Given the description of an element on the screen output the (x, y) to click on. 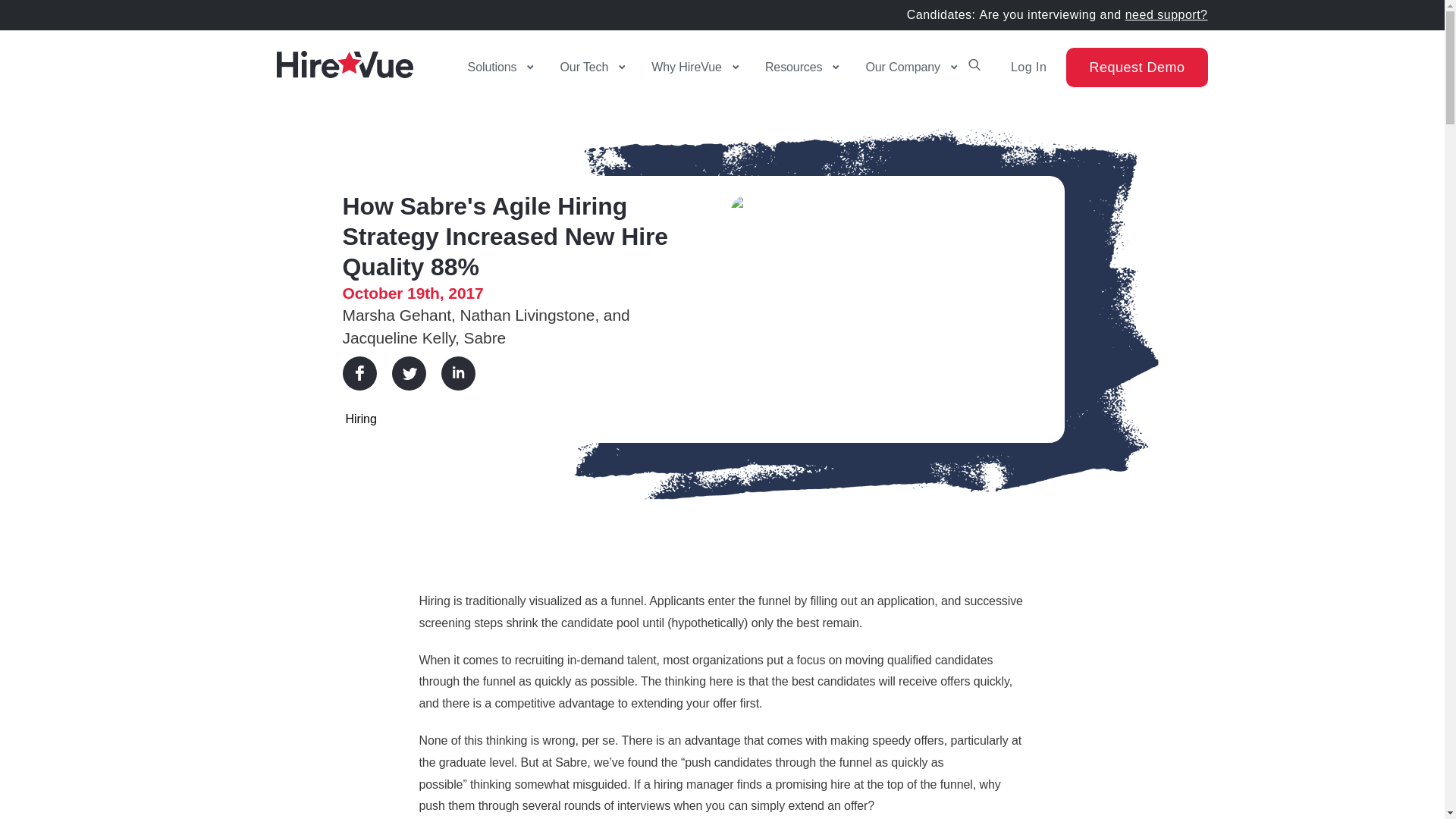
Our Tech (584, 66)
Why HireVue (687, 66)
Our Company (903, 66)
Why HireVue (687, 66)
Resources (794, 66)
Our Tech (584, 66)
Log In (1023, 66)
Our Company (903, 66)
Solutions (493, 66)
Hiring (361, 418)
